Given the description of an element on the screen output the (x, y) to click on. 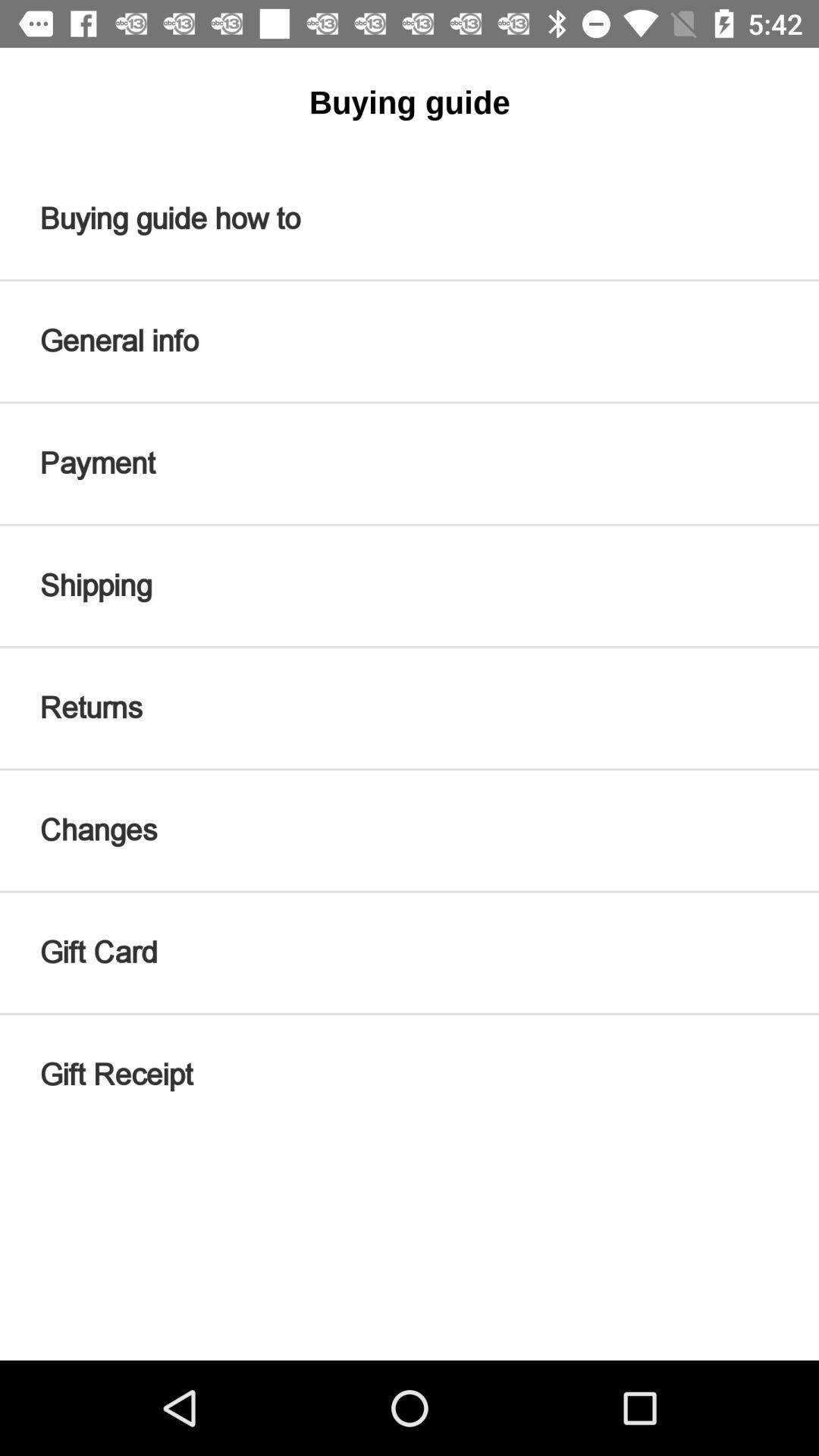
press item above the gift card item (409, 830)
